Given the description of an element on the screen output the (x, y) to click on. 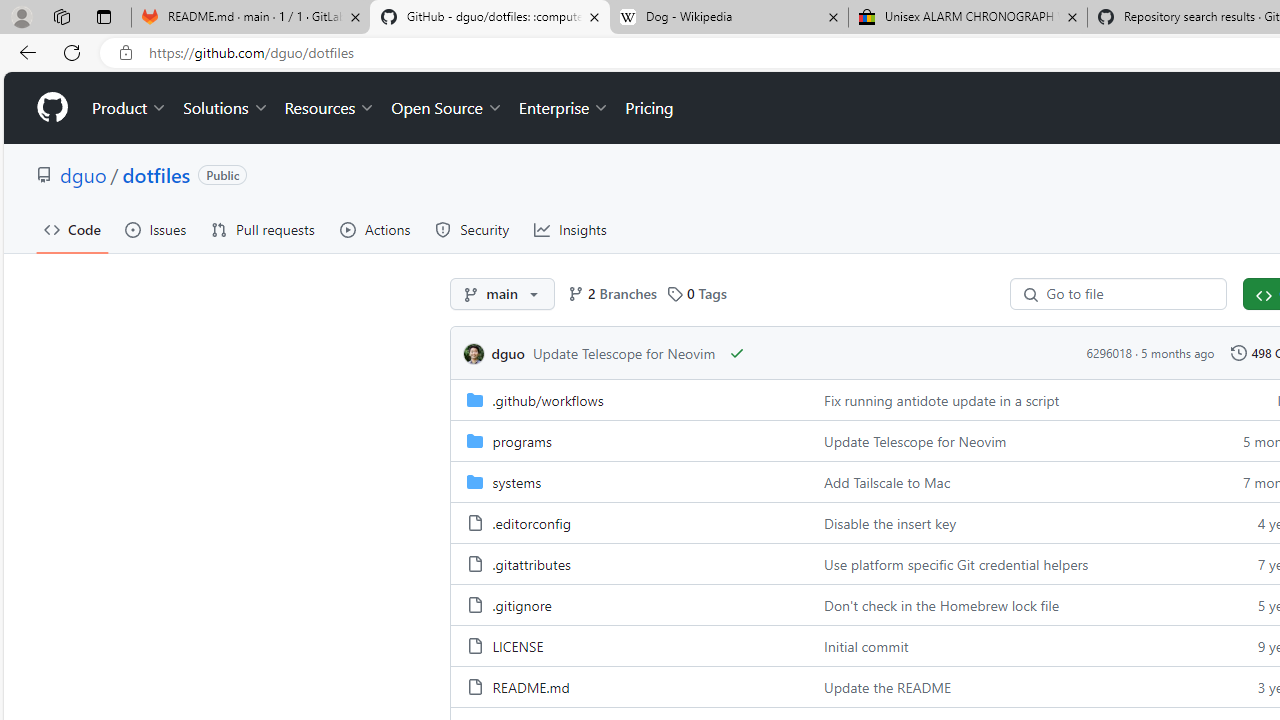
Update the README (1008, 686)
Don't check in the Homebrew lock file (941, 604)
Resources (330, 107)
Solutions (225, 107)
Actions (375, 229)
Dog - Wikipedia (729, 17)
.editorconfig, (File) (629, 521)
README.md, (File) (629, 686)
Use platform specific Git credential helpers (956, 563)
programs, (Directory) (629, 439)
dguo (476, 353)
.gitattributes, (File) (530, 563)
